Given the description of an element on the screen output the (x, y) to click on. 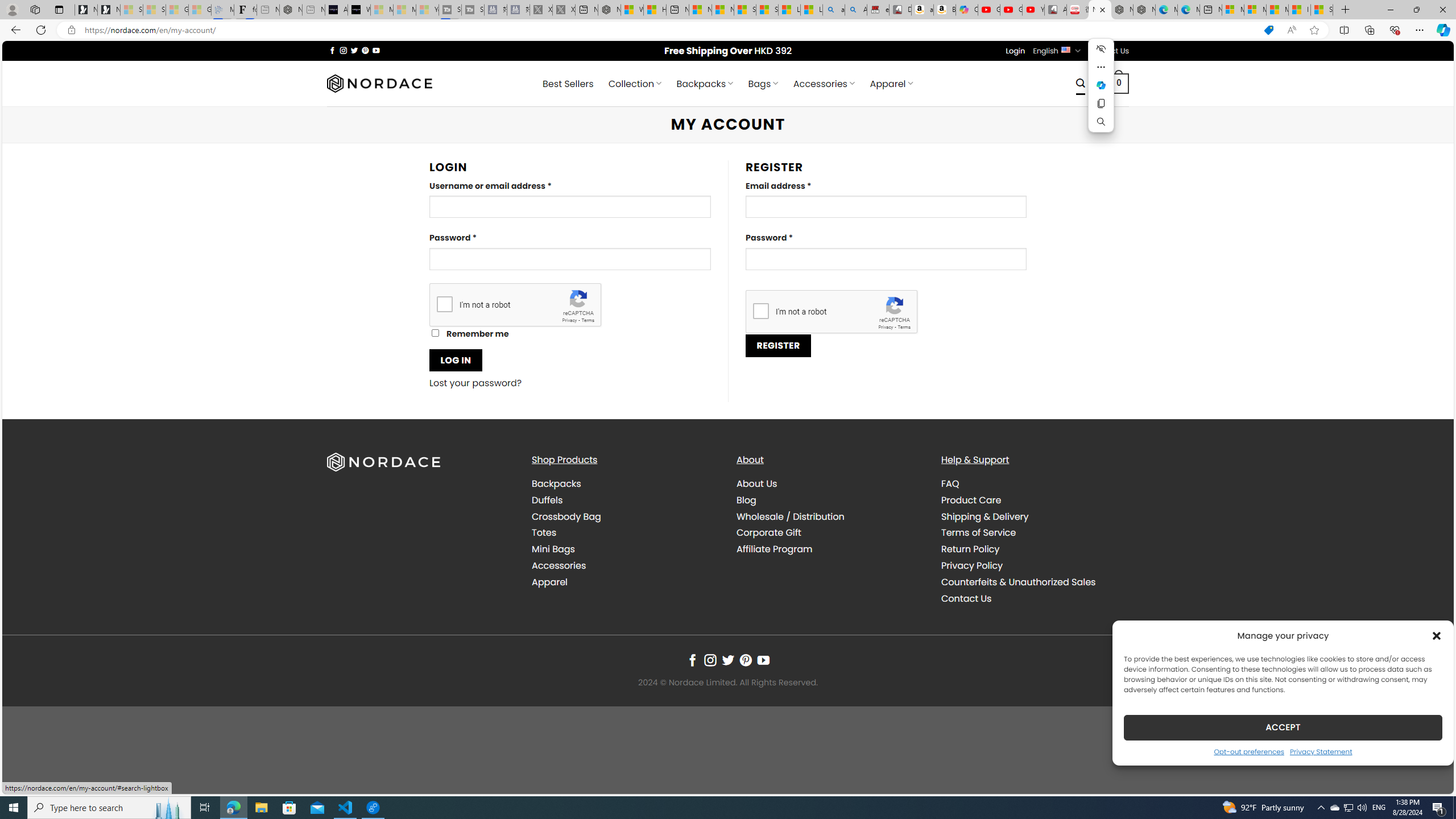
Tab actions menu (58, 9)
Copilot (Ctrl+Shift+.) (1442, 29)
Add this page to favorites (Ctrl+D) (1314, 29)
  0   (1118, 83)
Mini menu on text selection (1101, 84)
App bar (728, 29)
Nordace - My Account (1099, 9)
Blog (830, 499)
Back (13, 29)
Counterfeits & Unauthorized Sales (1034, 581)
AI Voice Changer for PC and Mac - Voice.ai (336, 9)
Shipping & Delivery (984, 516)
